Given the description of an element on the screen output the (x, y) to click on. 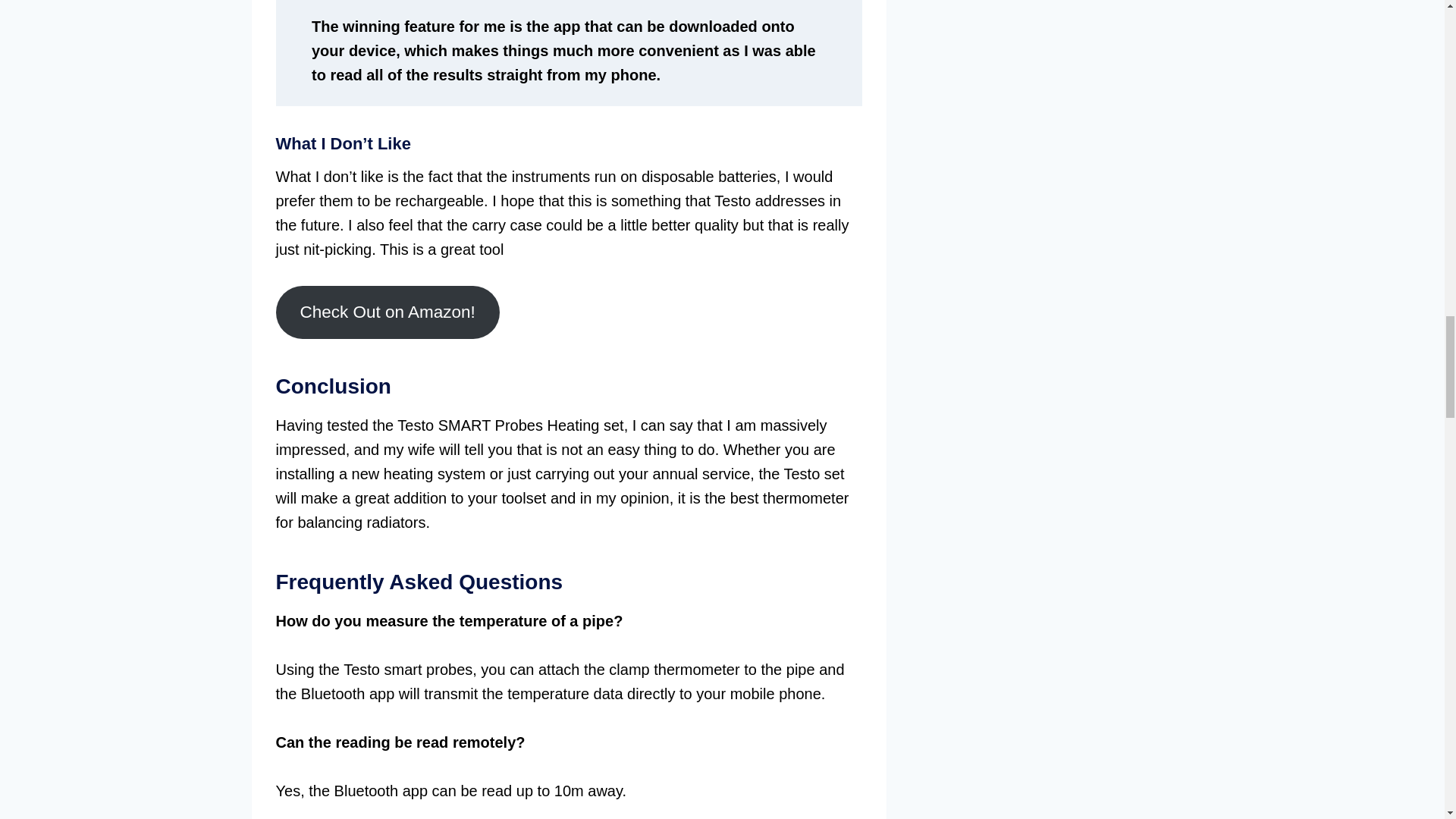
Check Out on Amazon! (387, 312)
